Given the description of an element on the screen output the (x, y) to click on. 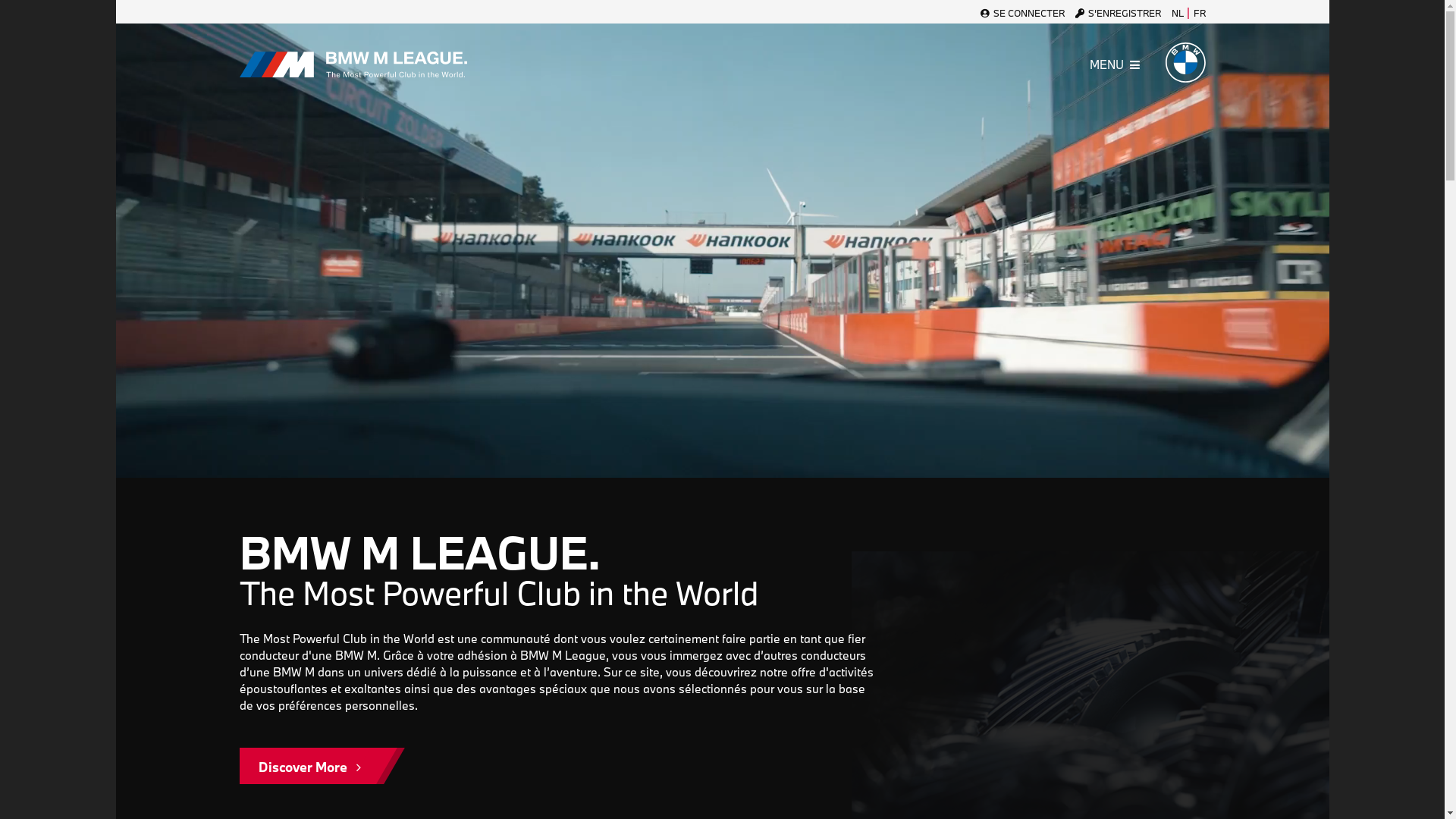
SE CONNECTER Element type: text (1021, 12)
FR Element type: text (1199, 12)
NL Element type: text (1176, 12)
Discover More Element type: text (309, 765)
